Given the description of an element on the screen output the (x, y) to click on. 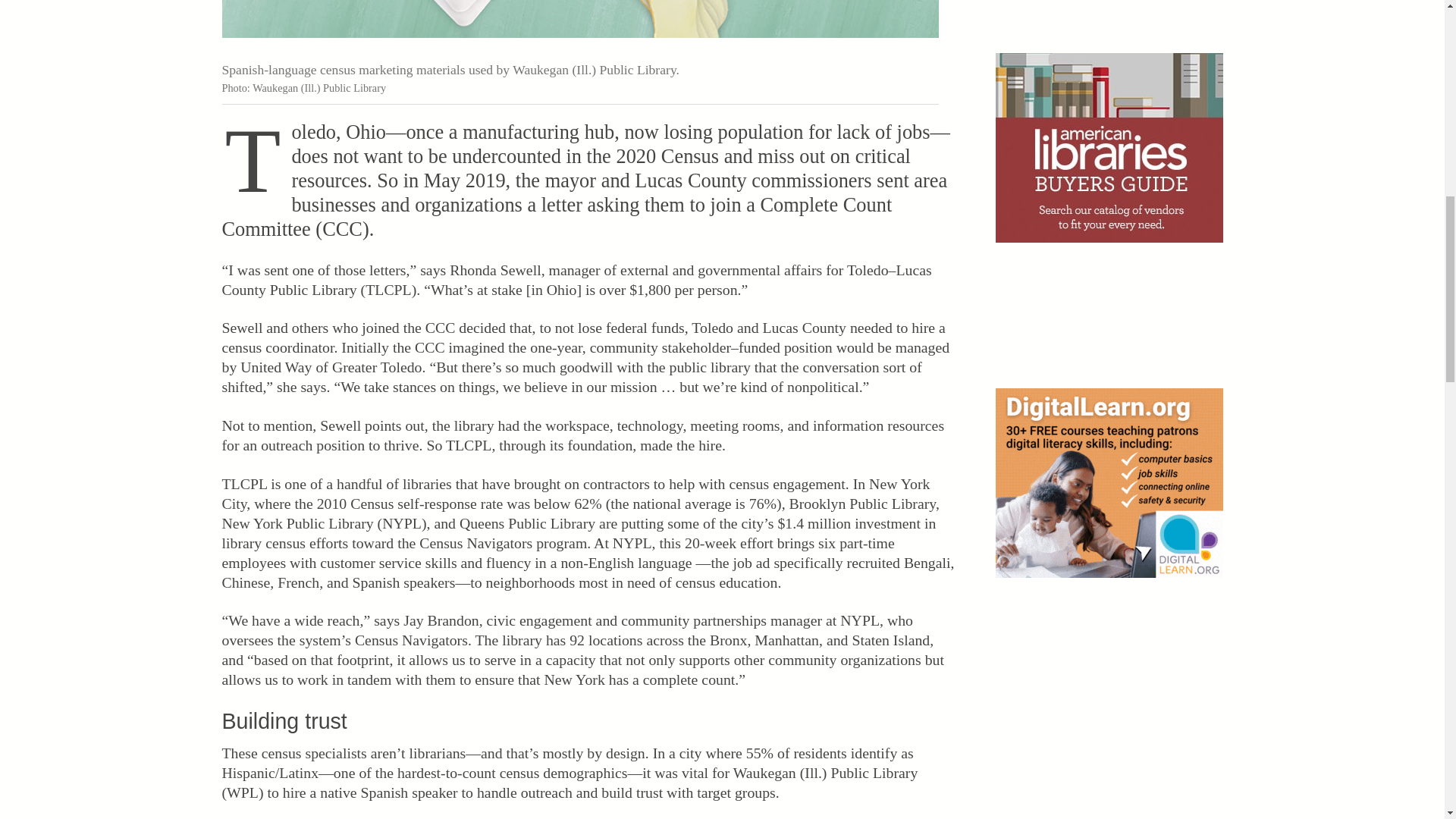
Click here for more information (1108, 483)
